Given the description of an element on the screen output the (x, y) to click on. 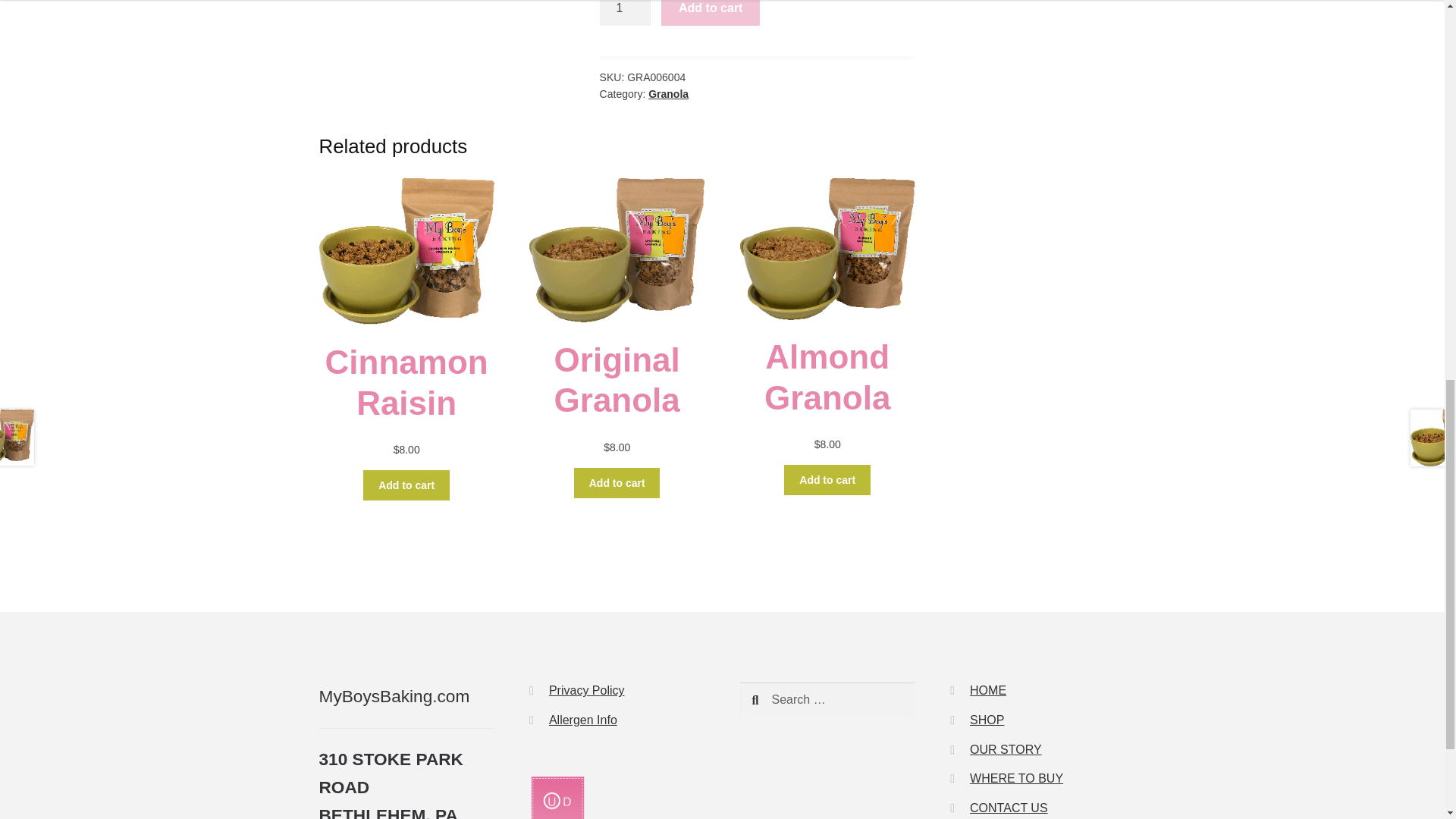
Allergen Info (582, 719)
Add to cart (827, 480)
1 (624, 12)
Add to cart (405, 485)
Privacy Policy (586, 689)
Granola (667, 93)
Kosher Dairy (557, 796)
Add to cart (710, 12)
Add to cart (617, 482)
